Given the description of an element on the screen output the (x, y) to click on. 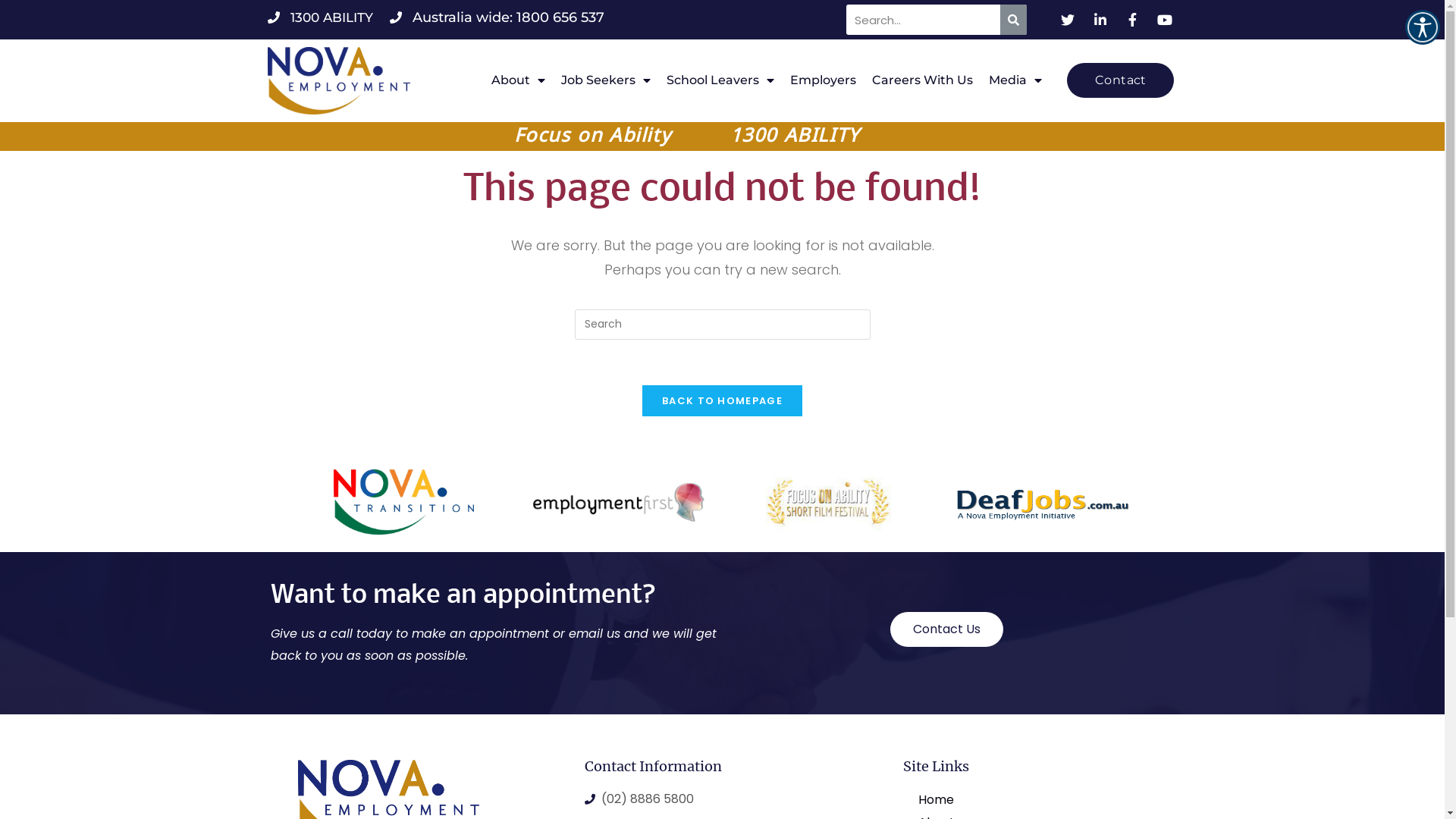
Search Element type: hover (923, 19)
Search Element type: hover (1013, 19)
Home Element type: text (1023, 799)
Job Seekers Element type: text (605, 79)
Careers With Us Element type: text (922, 79)
School Leavers Element type: text (720, 79)
Nova Employment Colour Element type: hover (338, 80)
1300 ABILITY Element type: text (319, 17)
BACK TO HOMEPAGE Element type: text (722, 400)
(02) 8886 5800 Element type: text (713, 799)
Contact Element type: text (1119, 79)
Media Element type: text (1014, 79)
About Element type: text (518, 79)
Australia wide: 1800 656 537 Element type: text (496, 17)
Contact Us Element type: text (946, 628)
Employers Element type: text (823, 79)
